Given the description of an element on the screen output the (x, y) to click on. 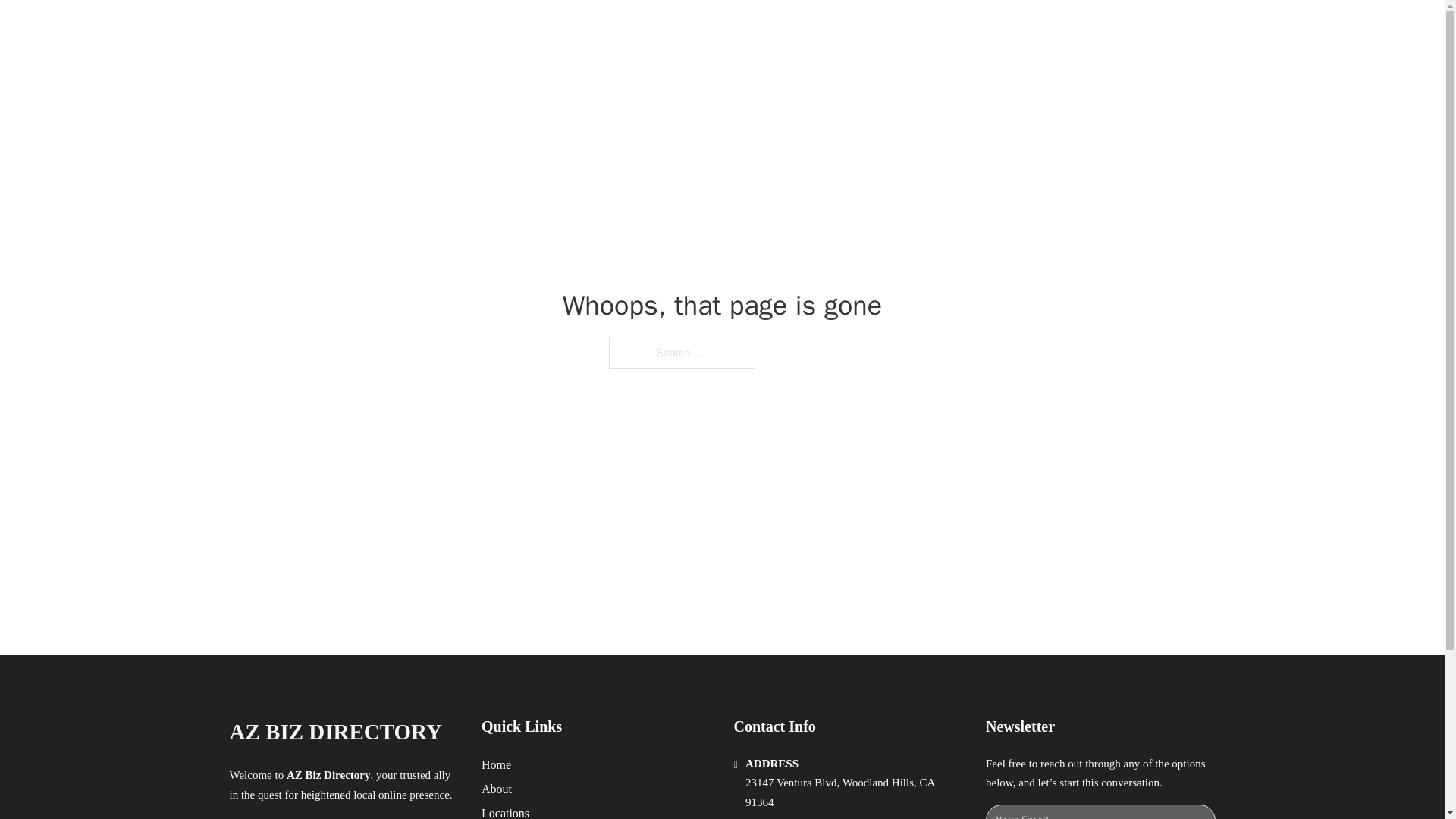
About (496, 788)
Locations (505, 811)
Home (496, 764)
LOCATIONS (990, 29)
HOME (919, 29)
AZ BIZ DIRECTORY (334, 732)
AZ BIZ DIRECTORY (403, 28)
